Given the description of an element on the screen output the (x, y) to click on. 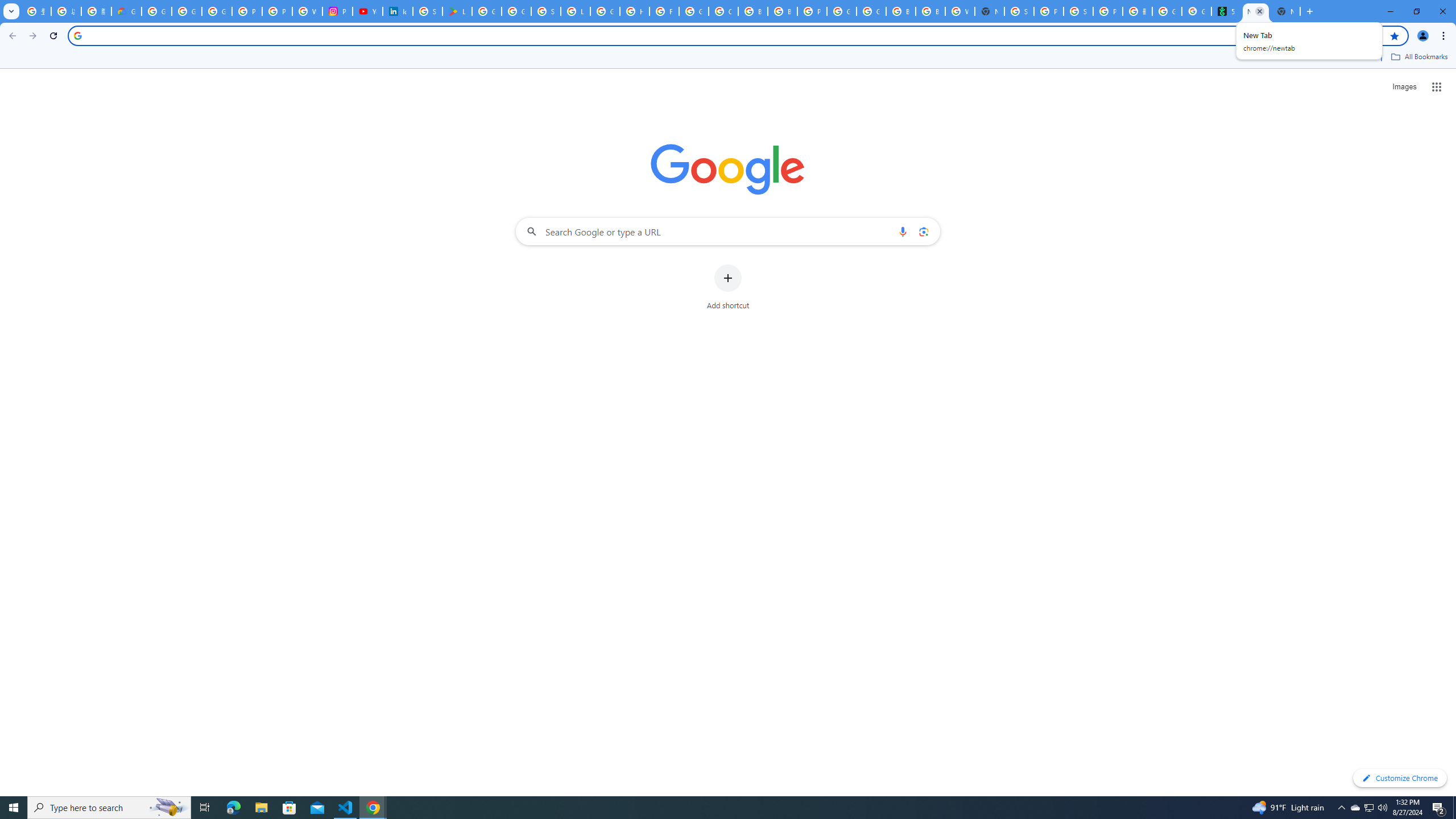
Sign in - Google Accounts (426, 11)
How do I create a new Google Account? - Google Account Help (634, 11)
Privacy Help Center - Policies Help (247, 11)
